Given the description of an element on the screen output the (x, y) to click on. 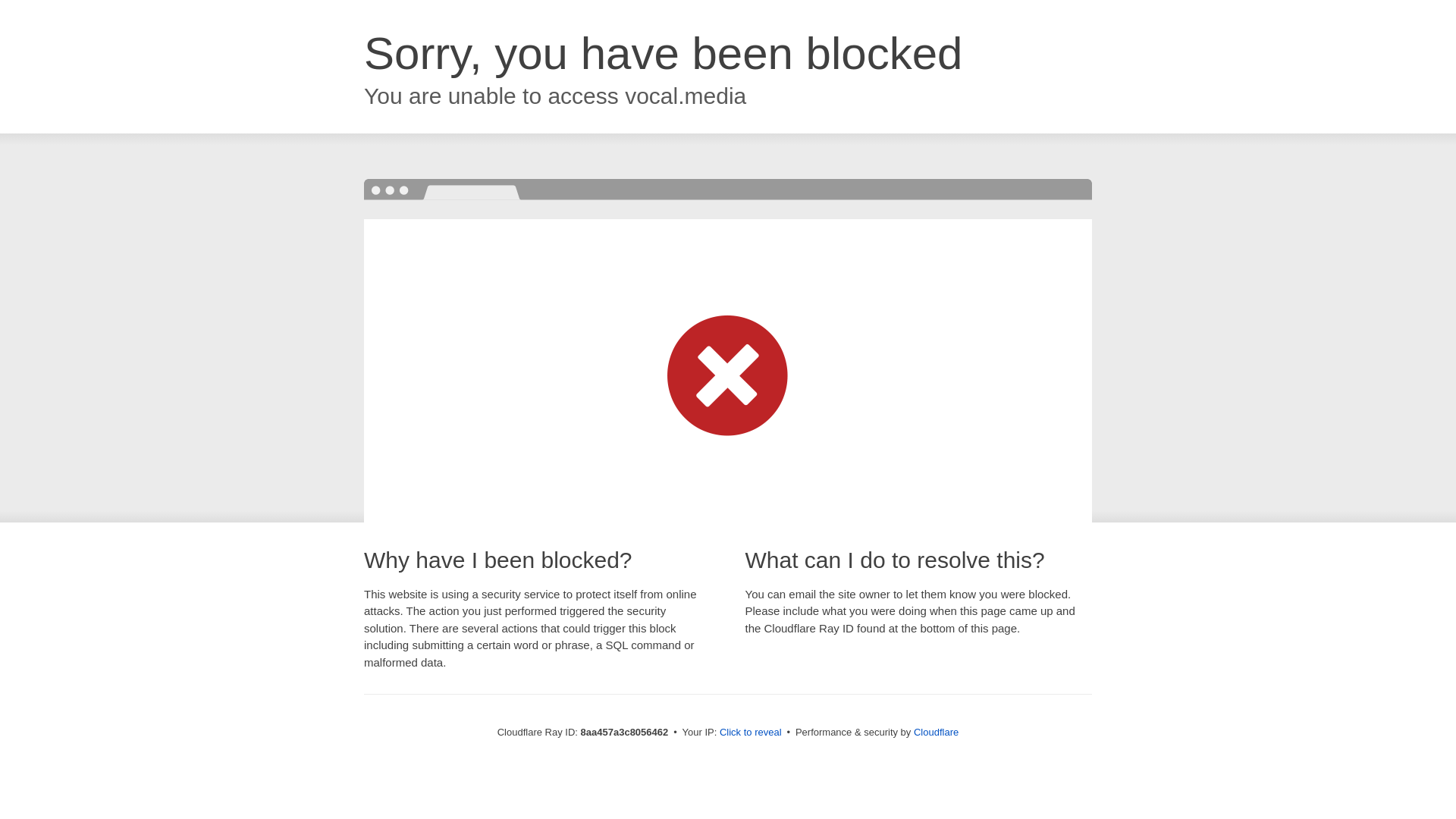
Cloudflare (936, 731)
Click to reveal (750, 732)
